Given the description of an element on the screen output the (x, y) to click on. 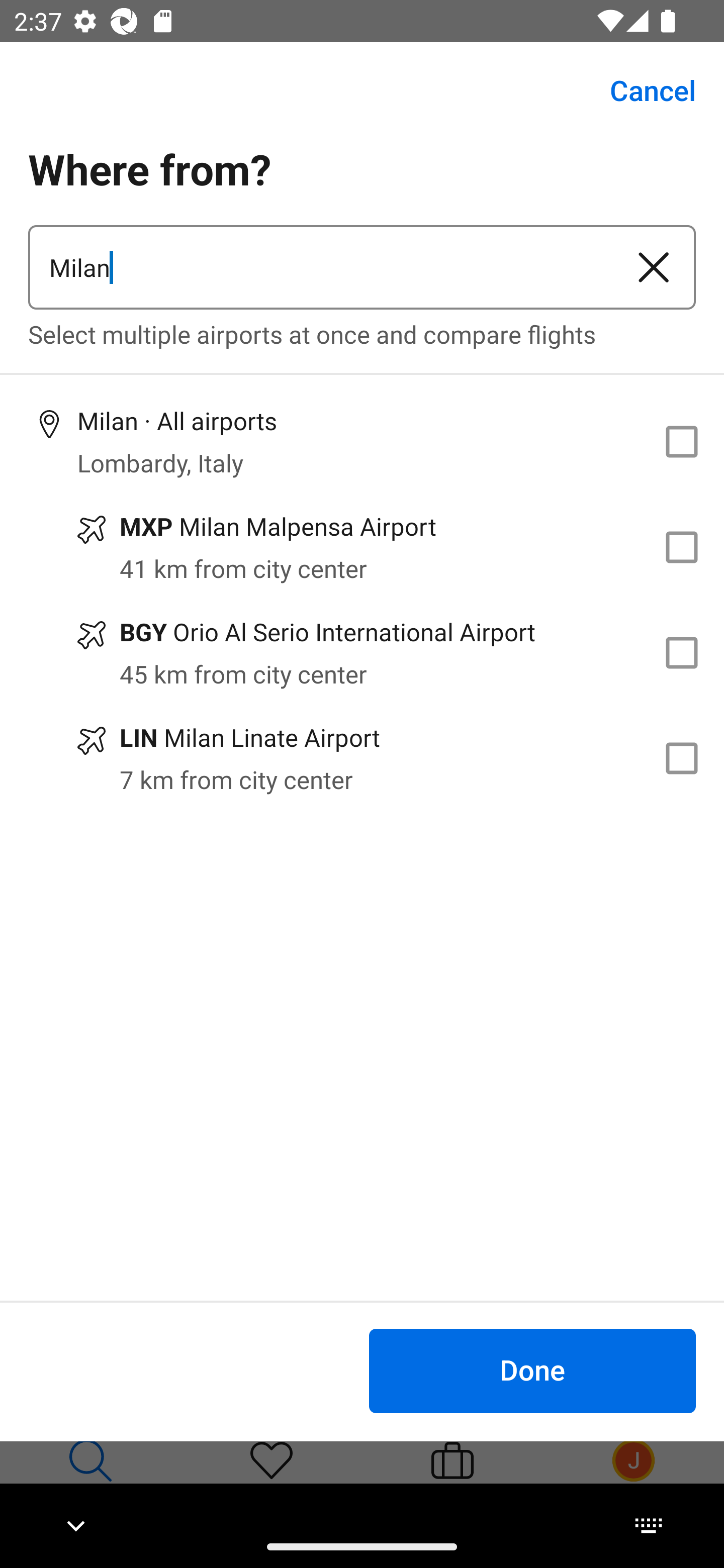
Cancel (641, 90)
Milan (319, 266)
Clear airport or city (653, 266)
Milan · All airports Lombardy, Italy (362, 440)
MXP Milan Malpensa Airport 41 km from city center (362, 547)
LIN Milan Linate Airport 7 km from city center (362, 757)
Done (532, 1370)
